Given the description of an element on the screen output the (x, y) to click on. 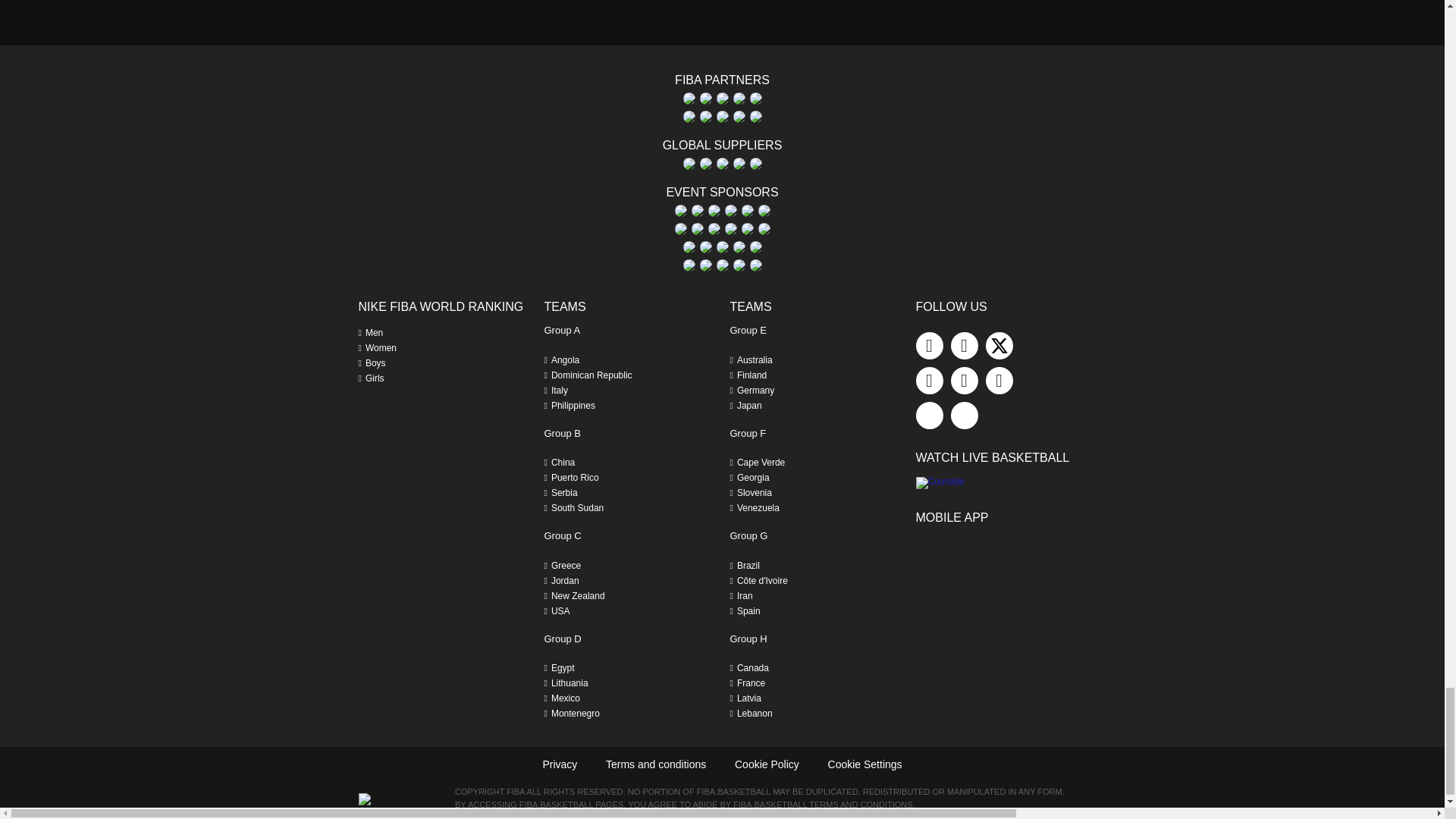
Molten BG5000 Special Website (722, 98)
TCL (688, 116)
j9.com (704, 98)
Yili (755, 116)
Smart (755, 98)
Nike (738, 98)
Wanda Group (738, 116)
Tissot (722, 116)
Ganten (688, 98)
